Given the description of an element on the screen output the (x, y) to click on. 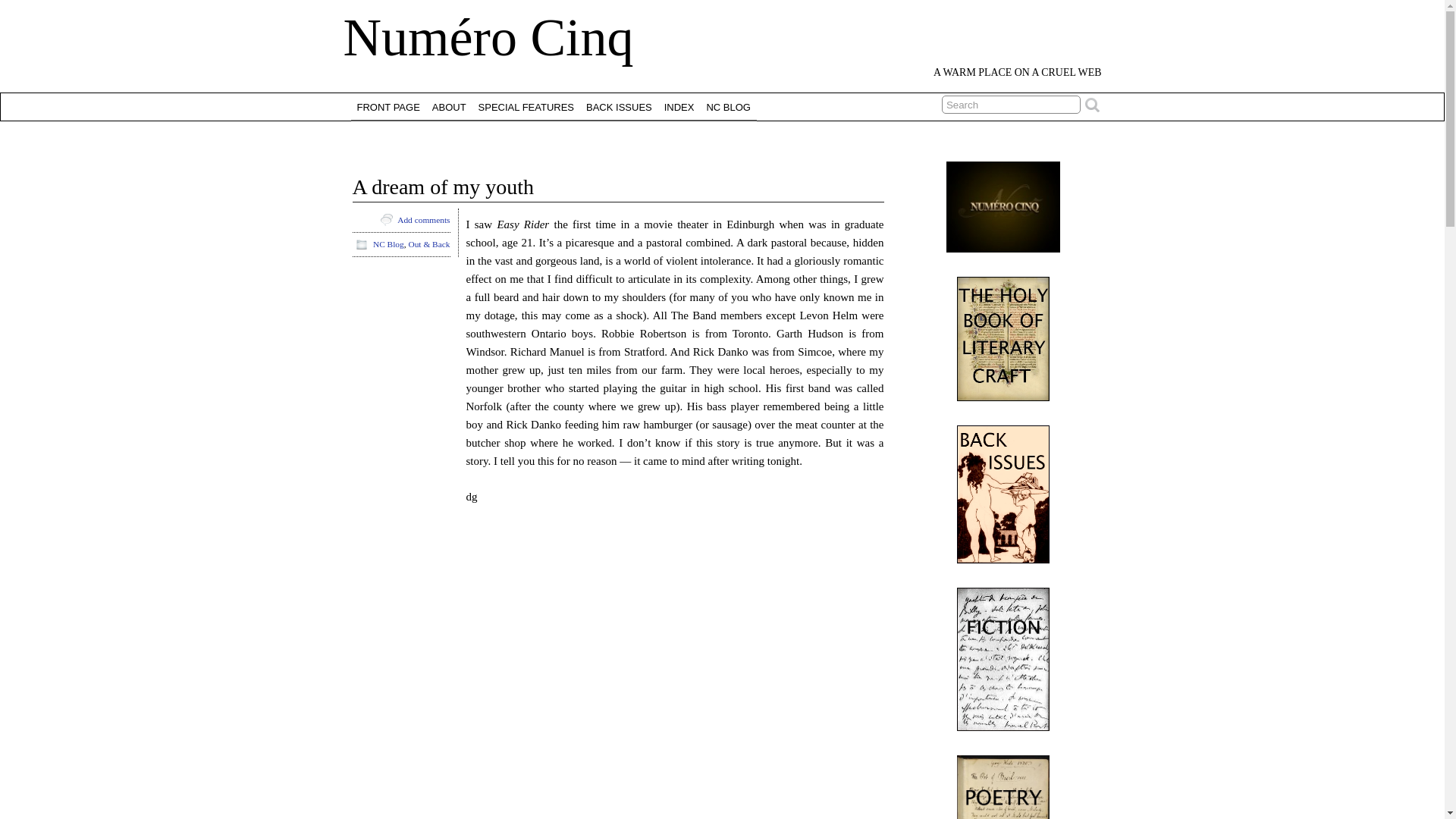
BACK ISSUES (618, 106)
Search (1011, 104)
NC BLOG (728, 106)
ABOUT (448, 106)
SPECIAL FEATURES (525, 106)
Search (1011, 104)
INDEX (679, 106)
FRONT PAGE (387, 106)
A dream of my youth (443, 187)
